Given the description of an element on the screen output the (x, y) to click on. 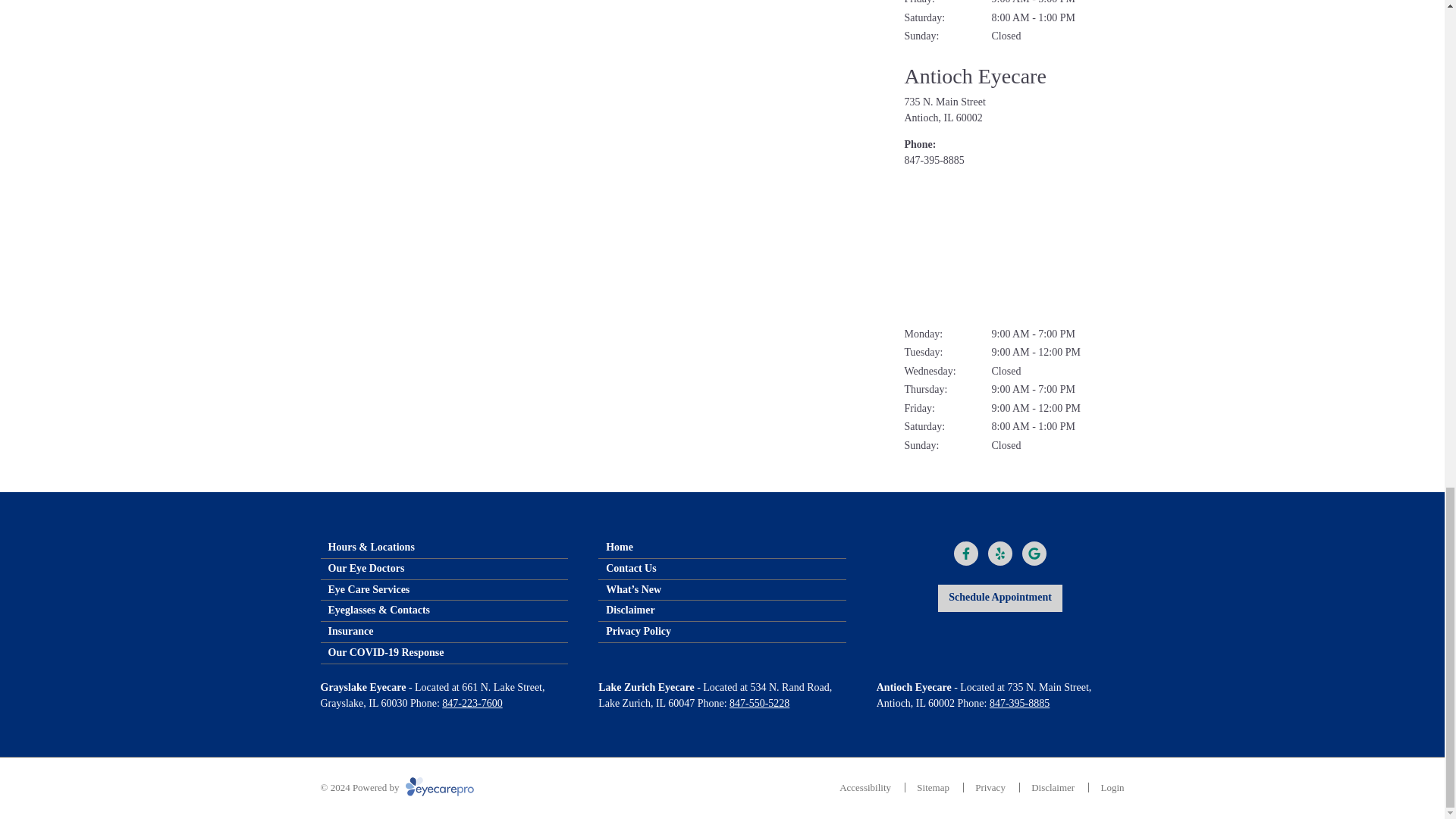
Google map (1014, 247)
